Given the description of an element on the screen output the (x, y) to click on. 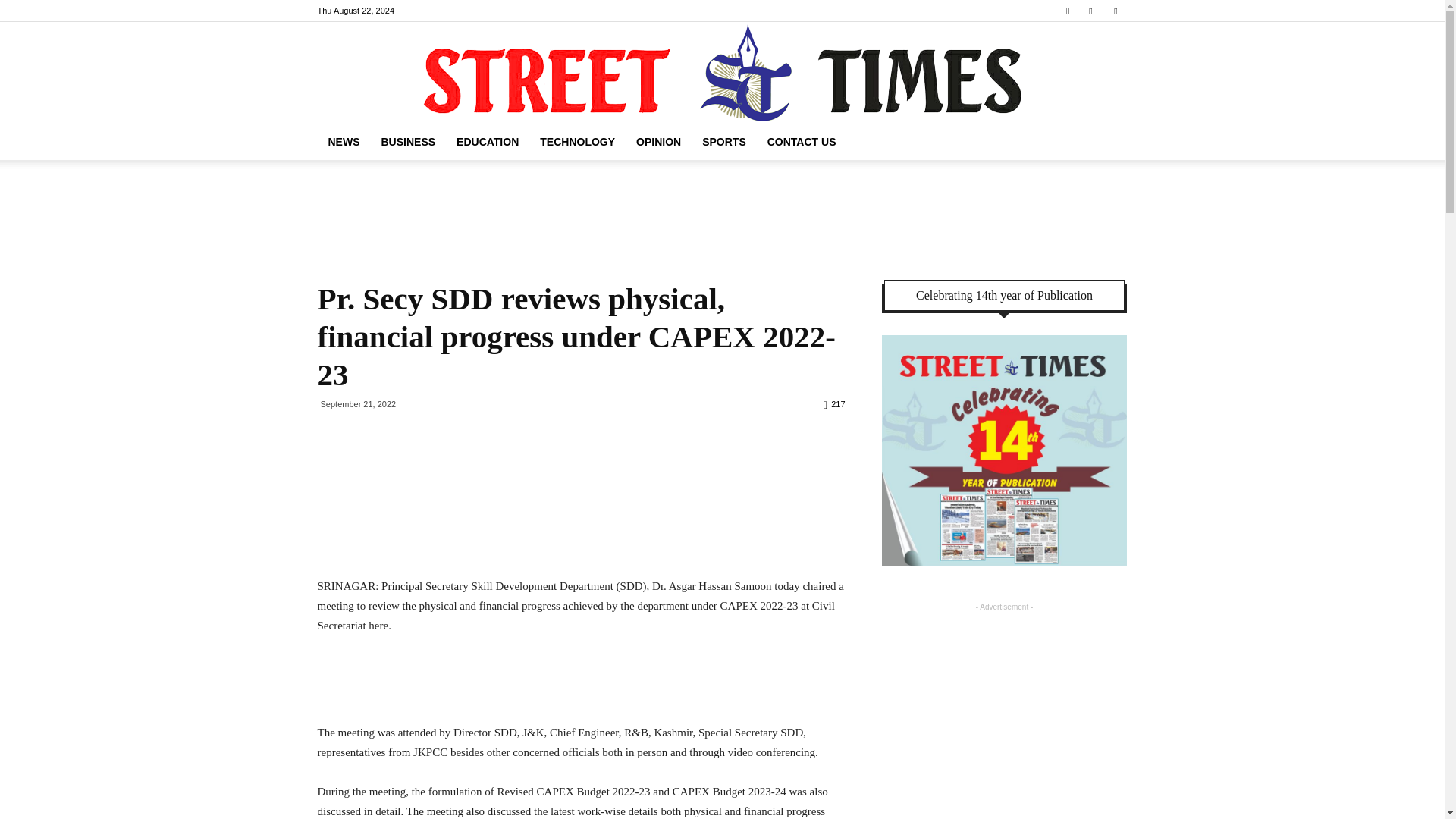
OPINION (658, 141)
TECHNOLOGY (577, 141)
EDUCATION (487, 141)
BUSINESS (407, 141)
Facebook (1090, 10)
Search (1085, 64)
Street Times (722, 72)
CONTACT US (802, 141)
NEWS (343, 141)
Anniversary (1003, 449)
